Given the description of an element on the screen output the (x, y) to click on. 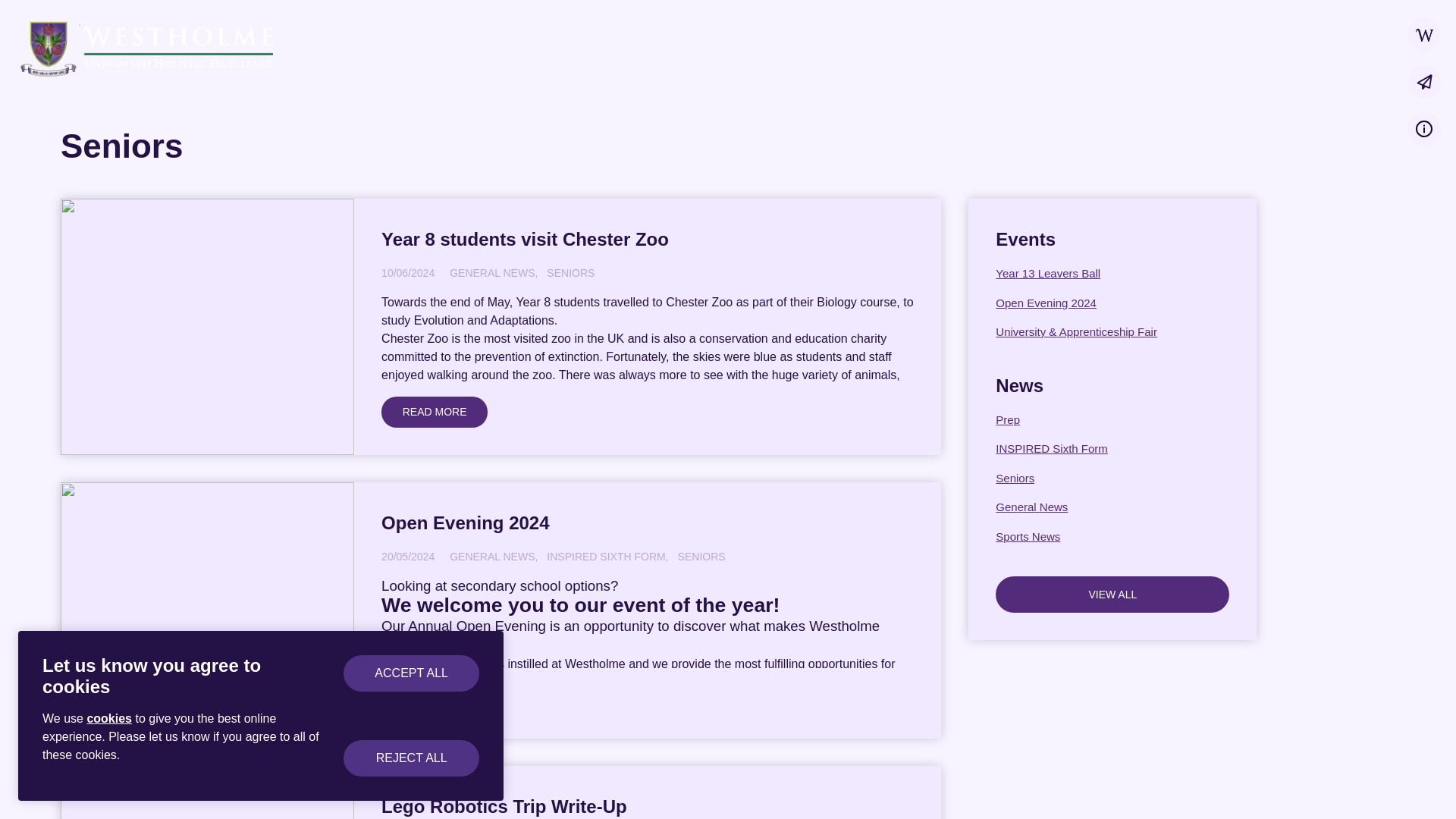
READ MORE (434, 411)
Prep (1111, 419)
READ MORE (434, 695)
General News (1111, 507)
Seniors (1111, 478)
VIEW ALL (1111, 594)
Sports News (1111, 536)
Open Evening 2024 (1111, 303)
INSPIRED Sixth Form (1111, 448)
Year 13 Leavers Ball (1111, 273)
